Given the description of an element on the screen output the (x, y) to click on. 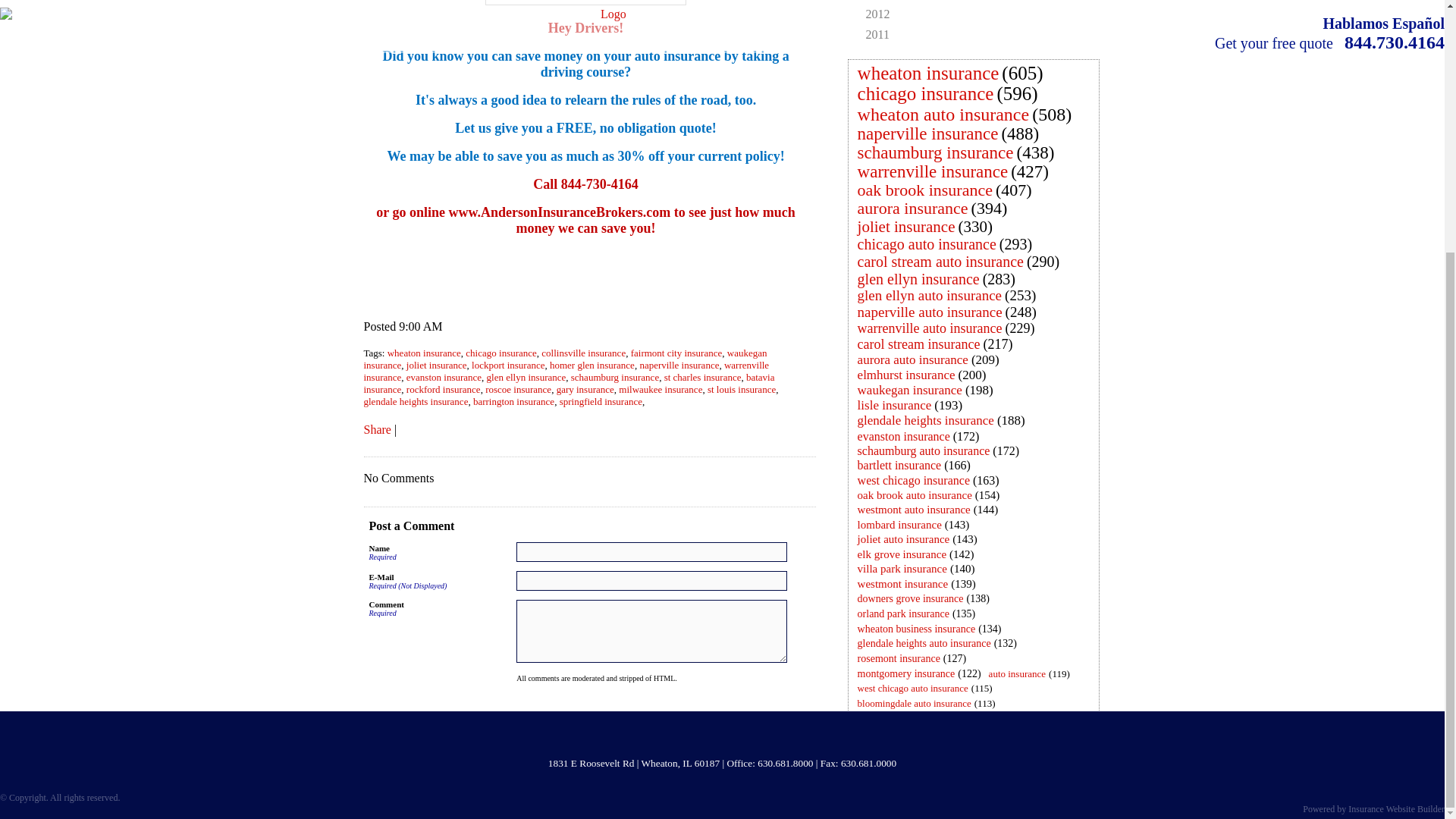
oak brook insurance (924, 189)
glen ellyn auto insurance (929, 294)
schaumburg insurance (935, 152)
joliet insurance (906, 226)
warrenville insurance (932, 171)
joliet insurance (436, 365)
fairmont city insurance (676, 352)
elmhurst insurance (906, 375)
chicago auto insurance (926, 243)
aurora insurance (912, 208)
aurora auto insurance (912, 359)
lockport insurance (507, 365)
carol stream auto insurance (940, 261)
chicago insurance (925, 93)
carol stream insurance (919, 343)
